Given the description of an element on the screen output the (x, y) to click on. 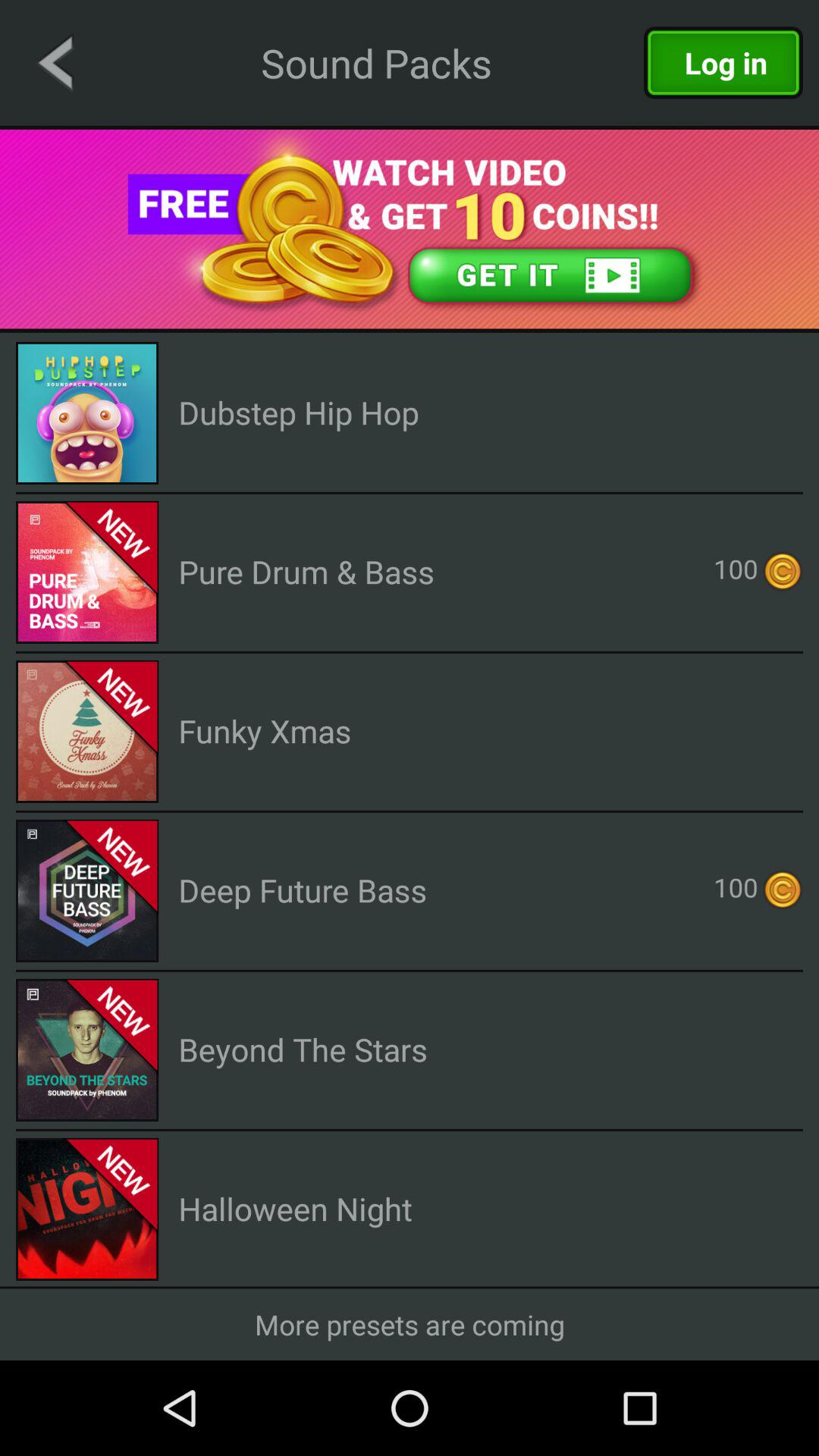
open app next to the sound packs item (54, 62)
